Given the description of an element on the screen output the (x, y) to click on. 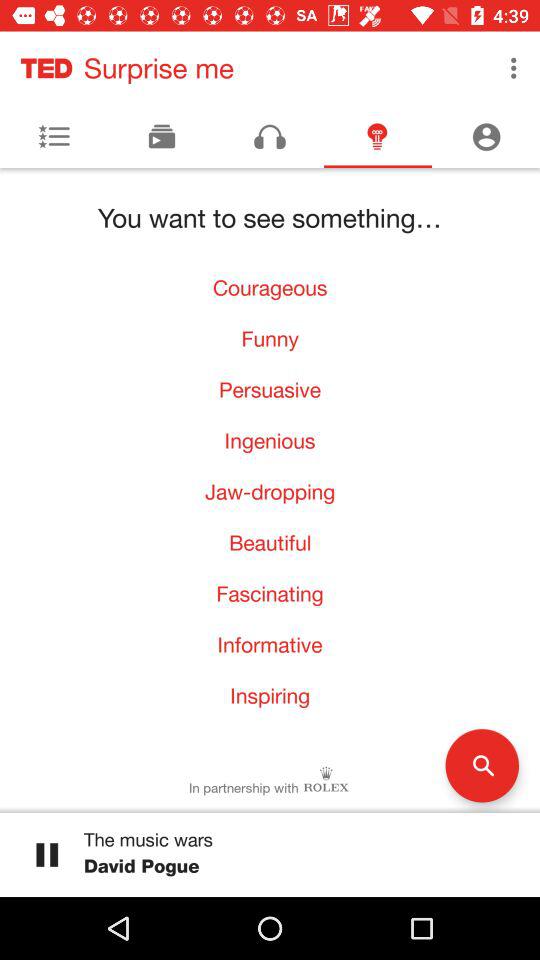
launch the icon above the persuasive item (270, 338)
